Given the description of an element on the screen output the (x, y) to click on. 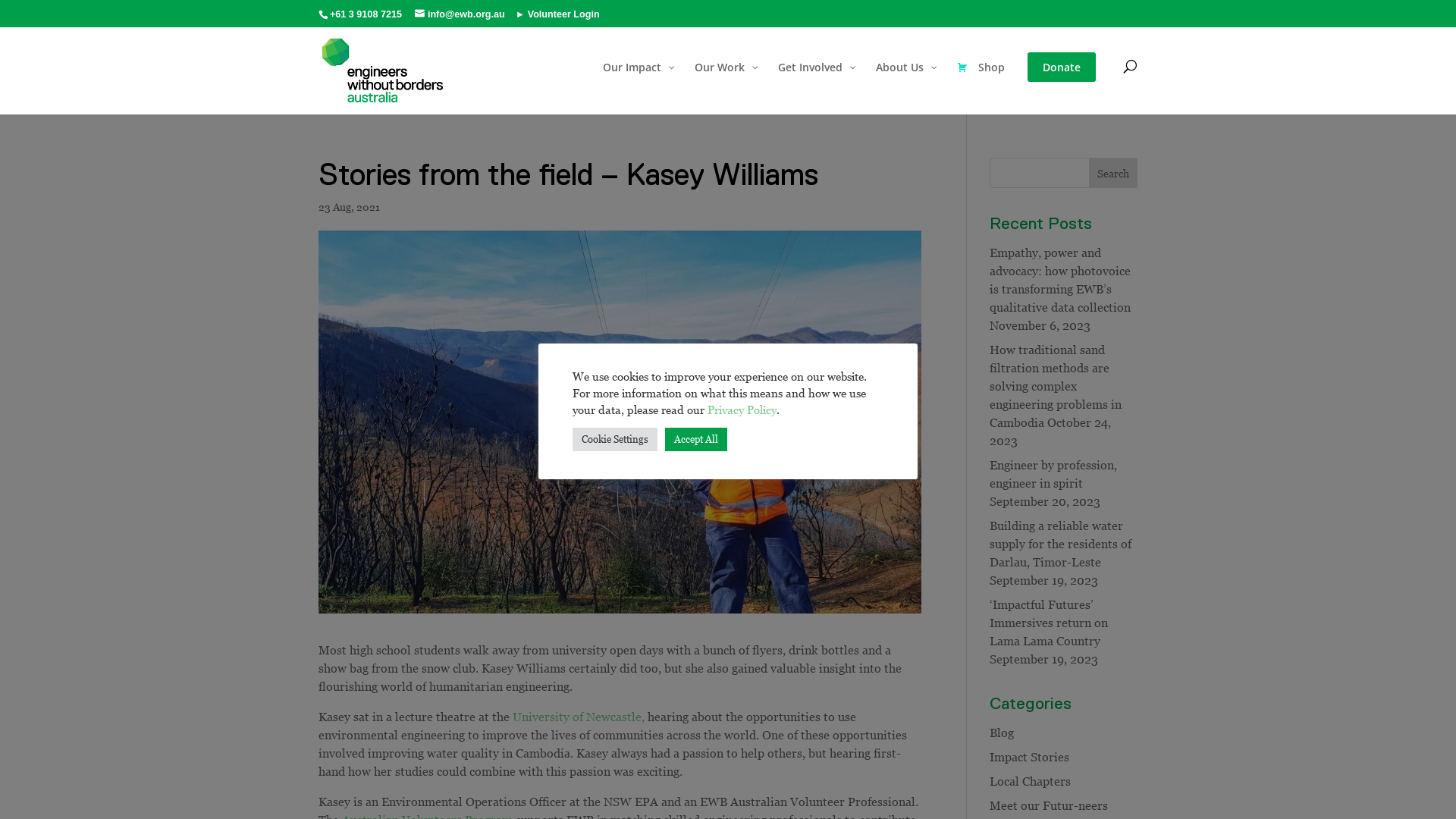
About Us Element type: text (904, 82)
Blog Element type: text (1001, 732)
Shop Element type: text (980, 83)
Local Chapters Element type: text (1029, 780)
Cookie Settings Element type: text (614, 439)
info@ewb.org.au Element type: text (459, 12)
Meet our Futur-neers Element type: text (1048, 805)
Accept All Element type: text (696, 439)
Our Work Element type: text (724, 82)
Search Element type: text (1112, 172)
Privacy Policy Element type: text (741, 408)
Get Involved Element type: text (815, 82)
University of Newcastle, Element type: text (579, 716)
Donate Element type: text (1061, 86)
Our Impact Element type: text (637, 82)
Impact Stories Element type: text (1029, 756)
Engineer by profession, engineer in spirit Element type: text (1053, 473)
